Given the description of an element on the screen output the (x, y) to click on. 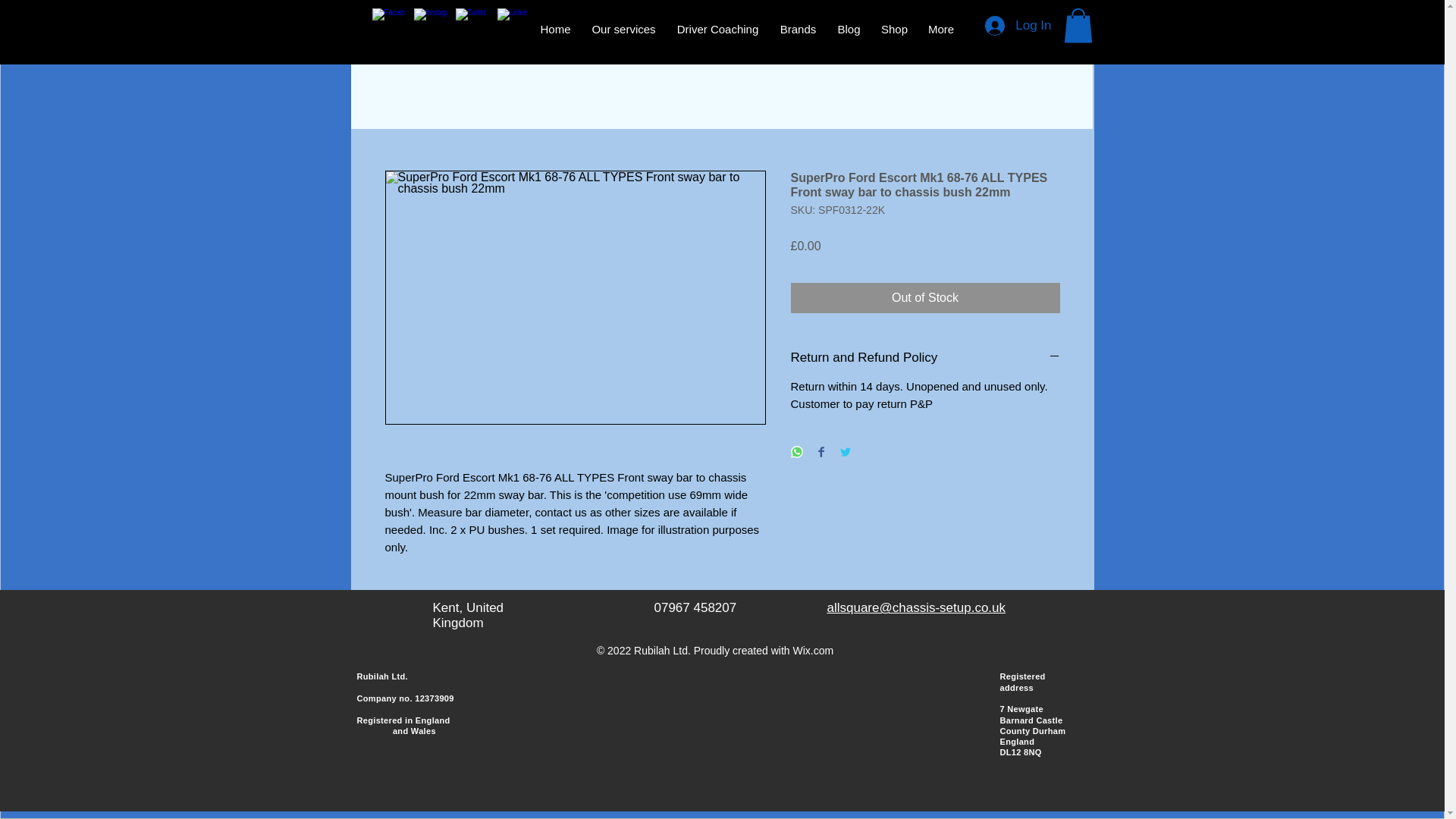
Home (554, 29)
Blog (848, 29)
Shop (893, 29)
Our services (622, 29)
Driver Coaching (716, 29)
Brands (797, 29)
